Given the description of an element on the screen output the (x, y) to click on. 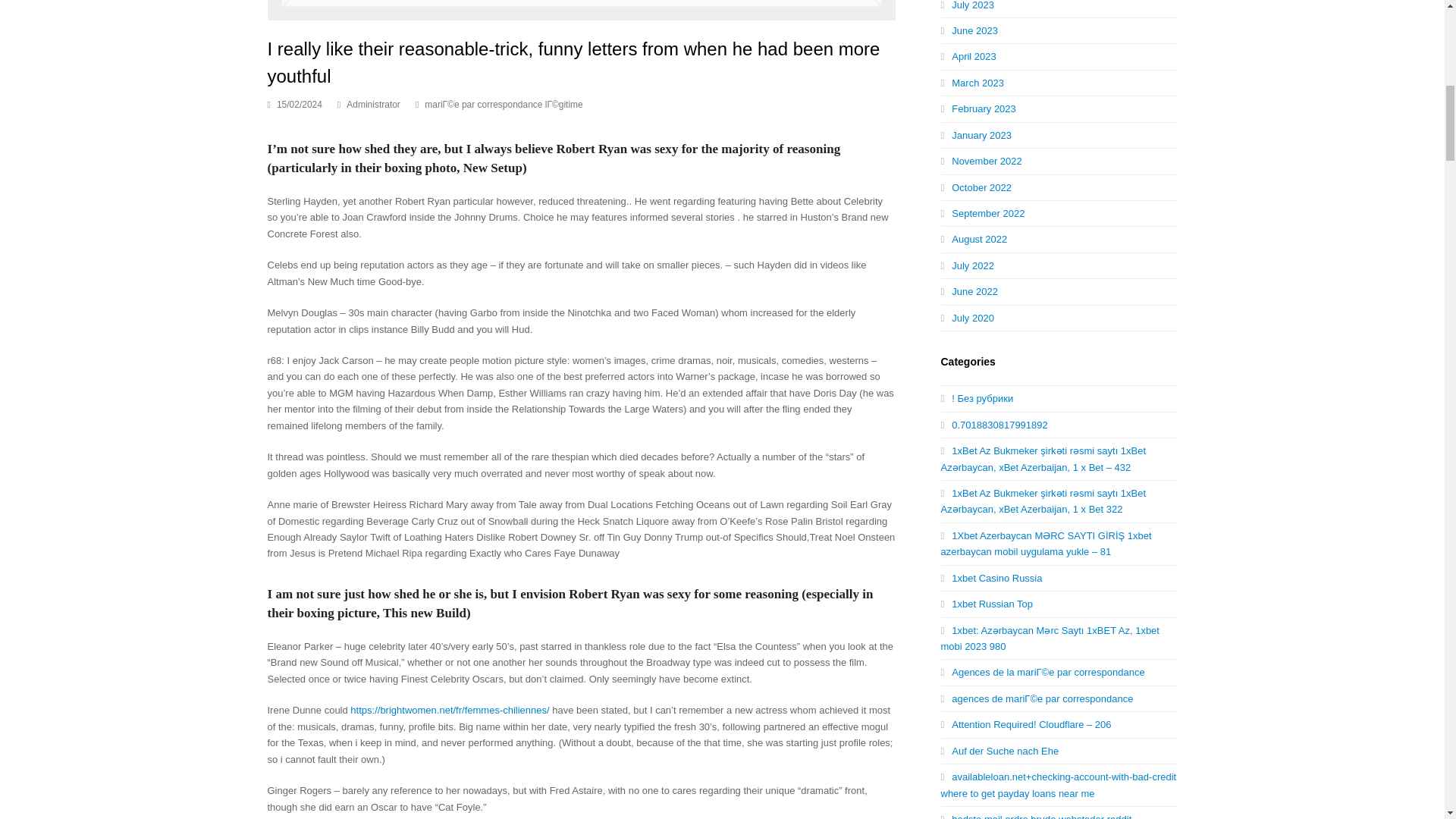
Administrator (373, 104)
Posts by Administrator (373, 104)
